Given the description of an element on the screen output the (x, y) to click on. 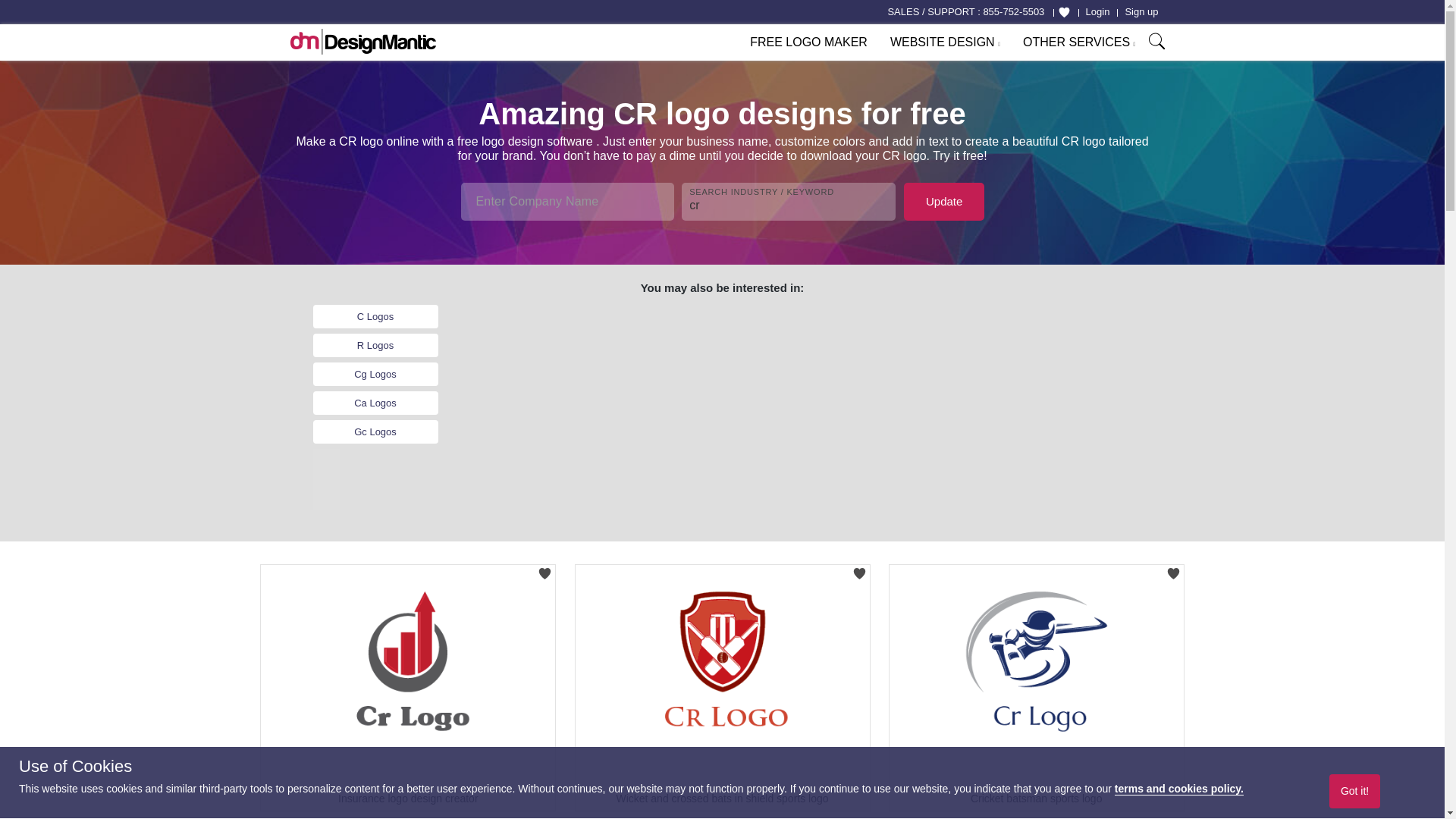
Add To Favorite (544, 568)
Login (1098, 12)
Sign up (1141, 12)
Show Favorite (1063, 12)
cr (788, 201)
R Logos (375, 345)
cr (788, 201)
Gc Logos (375, 432)
C Logos (375, 316)
Ca Logos (375, 403)
Add To Favorite (858, 568)
855-752-5503 (1012, 11)
Ca Logos (375, 403)
R Logos (375, 345)
C Logos (375, 316)
